Given the description of an element on the screen output the (x, y) to click on. 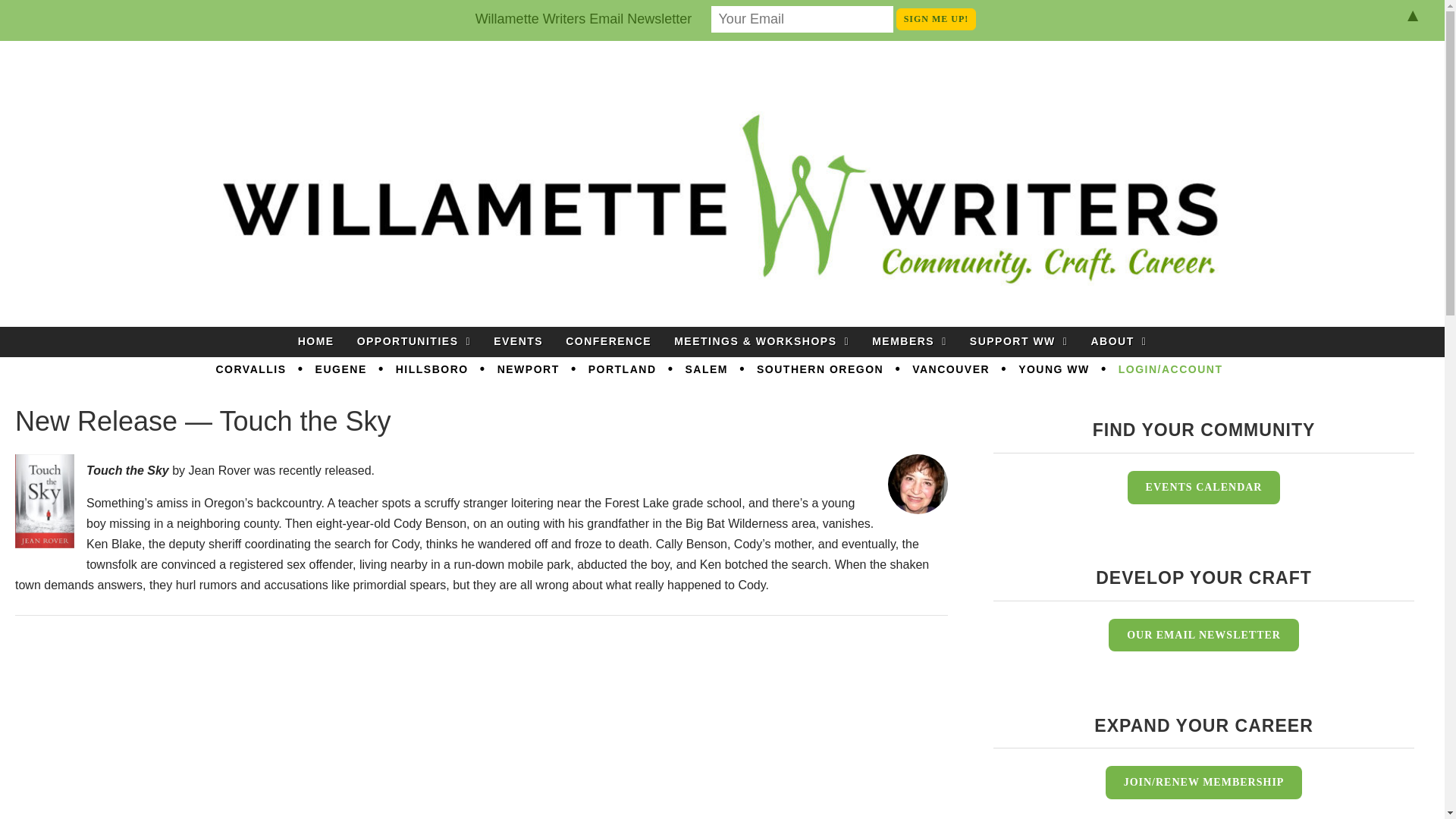
Willamette Writers (152, 81)
Sign me up! (936, 18)
Skip to content (768, 335)
CORVALLIS (250, 370)
ABOUT (1117, 341)
Skip to content (768, 335)
CONFERENCE (608, 341)
Willamette Writers (152, 81)
Our Southern Oregon Chapter in Central Point (820, 370)
